Given the description of an element on the screen output the (x, y) to click on. 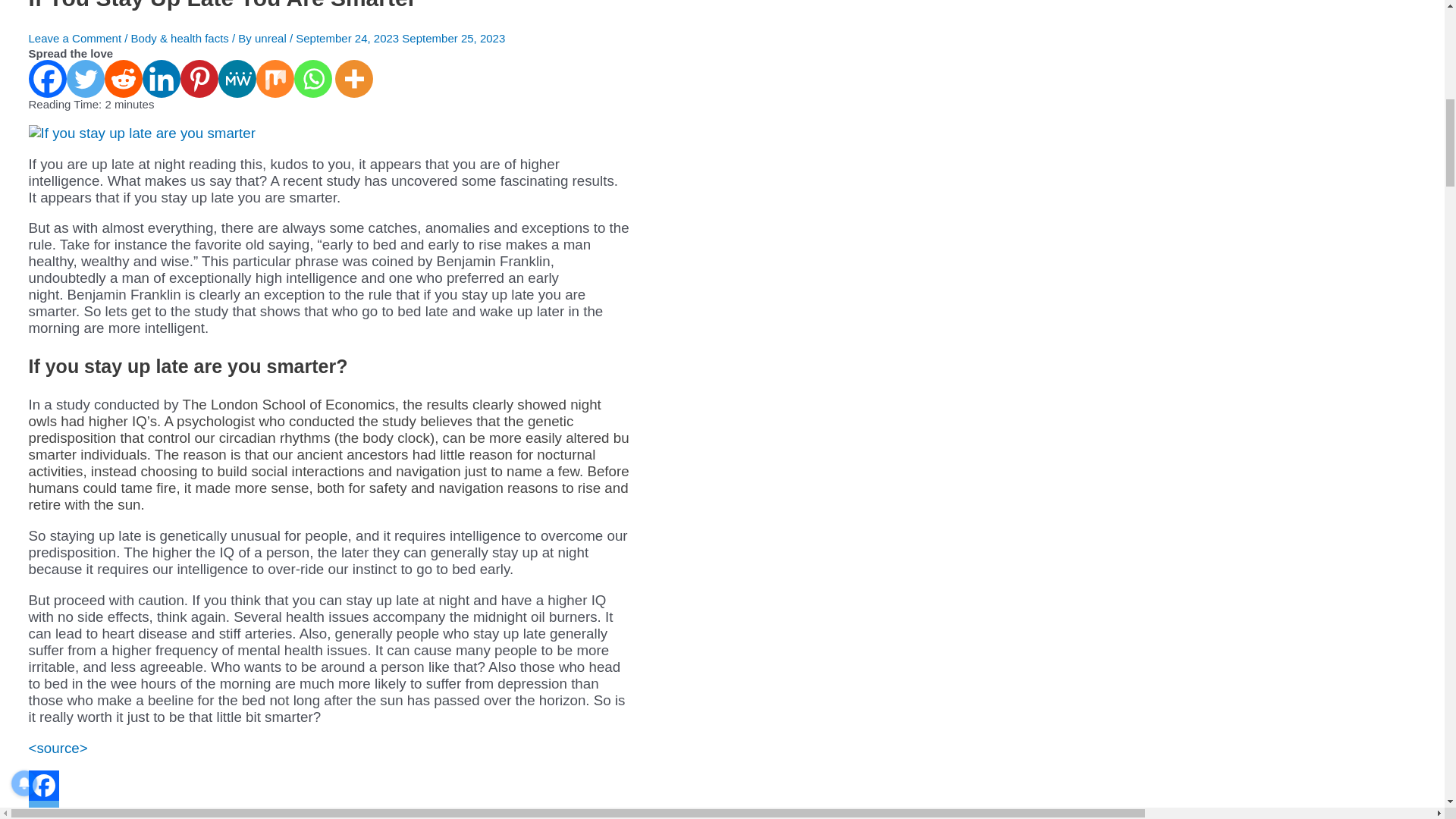
Twitter (85, 78)
Reddit (123, 78)
Facebook (44, 785)
MeWe (237, 78)
Twitter (44, 809)
Mix (275, 78)
Pinterest (199, 78)
Facebook (47, 78)
More (353, 78)
Linkedin (161, 78)
View all posts by unreal (271, 38)
Whatsapp (312, 78)
